Given the description of an element on the screen output the (x, y) to click on. 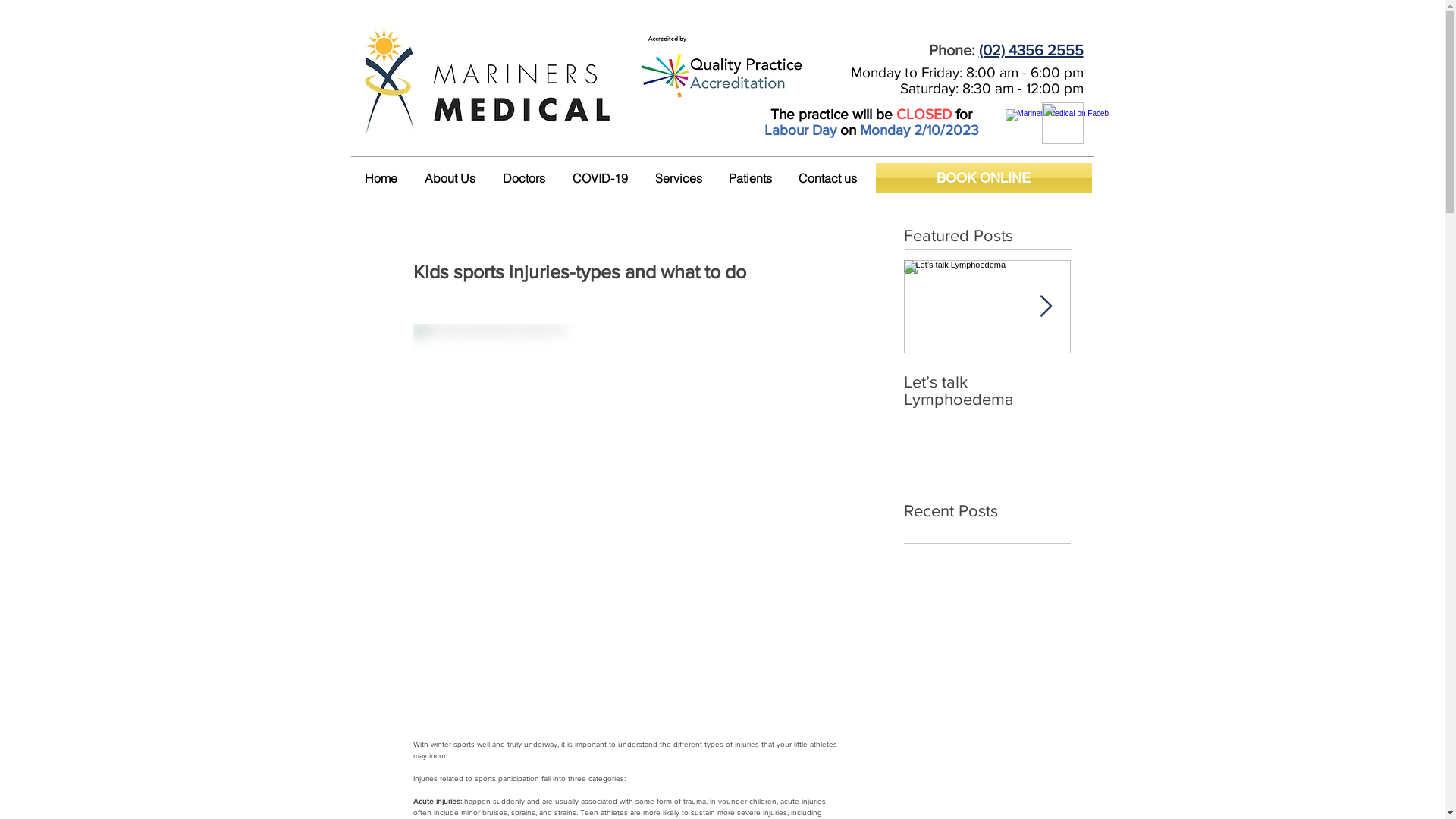
Where to find Mariners Medical Element type: hover (1062, 123)
Services Element type: text (678, 178)
on Element type: text (847, 130)
Monday 2/10/2023 Element type: text (919, 130)
Monday to Friday: 8:00 am - 6:00 pm Element type: text (966, 72)
Doctors Element type: text (523, 178)
BOOK ONLINE Element type: text (983, 178)
Saturday: 8:30 am - 12:00 pm Element type: text (990, 88)
Labour Day Element type: text (800, 130)
About Us Element type: text (450, 178)
for Element type: text (961, 114)
CLOSED Element type: text (923, 114)
Kids sports injuries-types and what to do Element type: text (1320, 390)
(02) 4356 2555 Element type: text (1030, 49)
Home Element type: text (380, 178)
Contact us Element type: text (827, 178)
The practice will be Element type: text (833, 114)
Phone: Element type: text (953, 49)
